Given the description of an element on the screen output the (x, y) to click on. 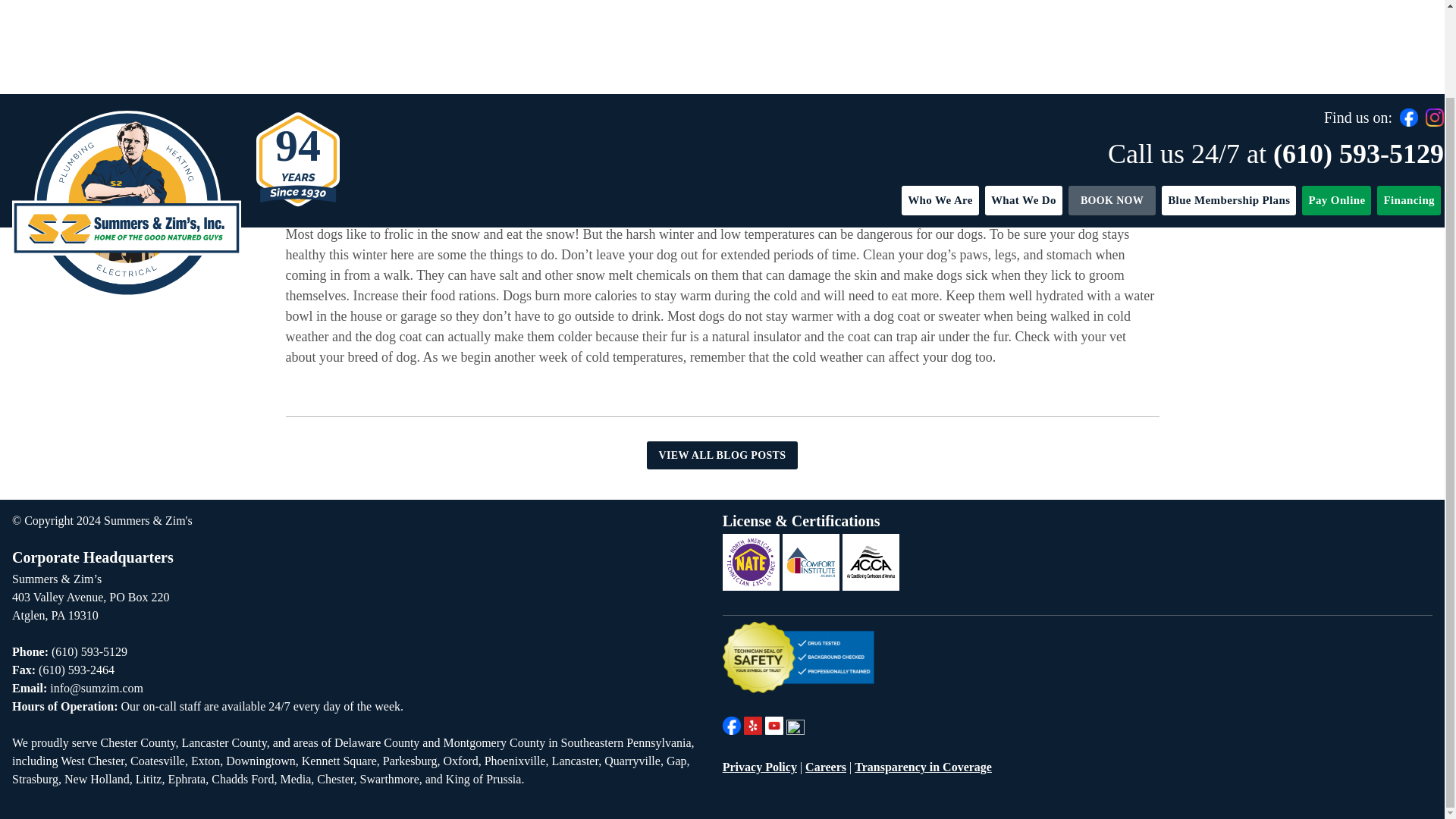
Careers (825, 766)
Transparency in Coverage (922, 766)
Financing (1409, 101)
What We Do (1023, 101)
Pay Online (1336, 101)
Blue Membership Plans (1228, 101)
Who We Are (939, 101)
BOOK NOW (1112, 101)
Privacy Policy (759, 766)
VIEW ALL BLOG POSTS (721, 455)
